Given the description of an element on the screen output the (x, y) to click on. 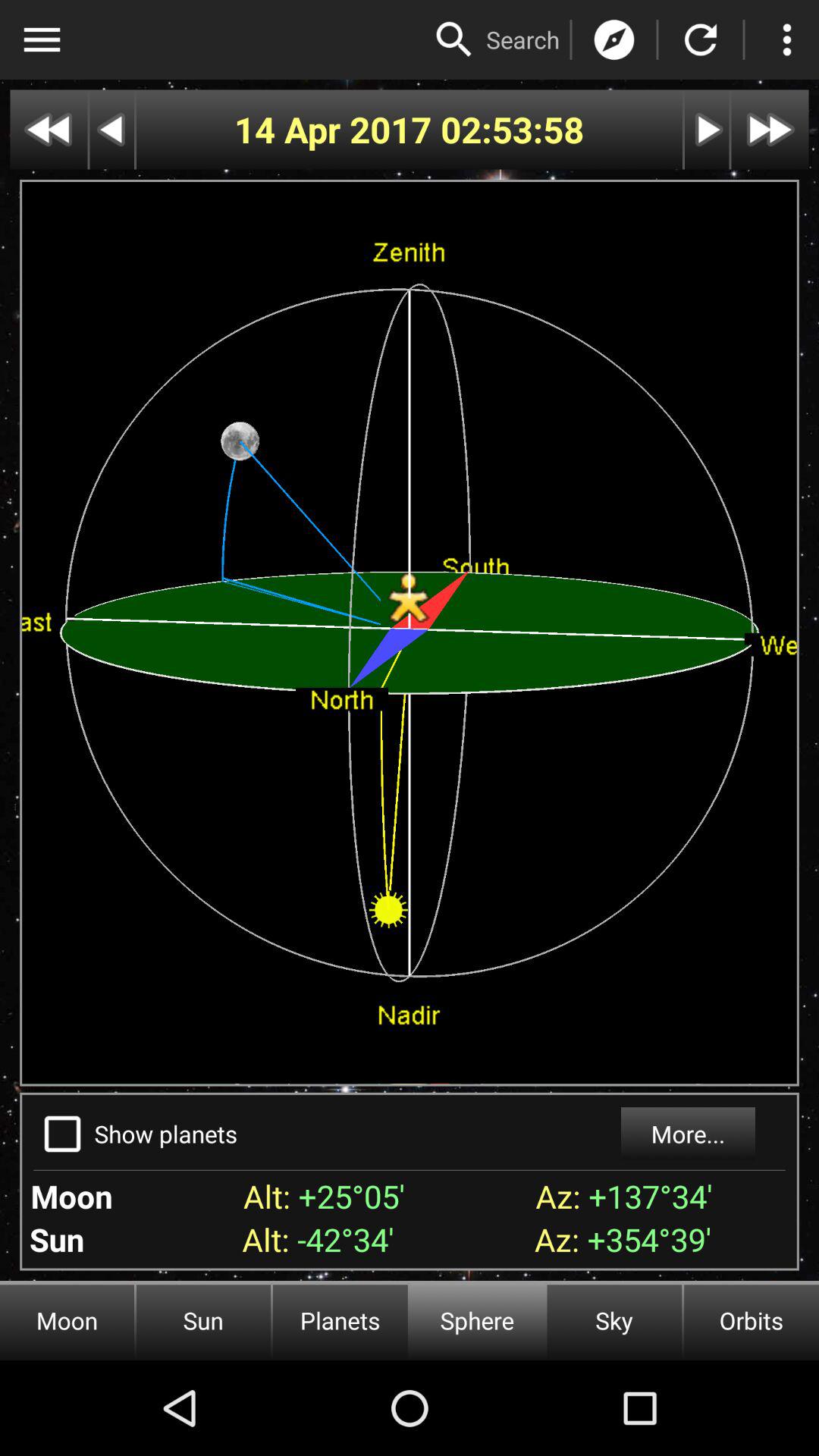
rewind (48, 129)
